Given the description of an element on the screen output the (x, y) to click on. 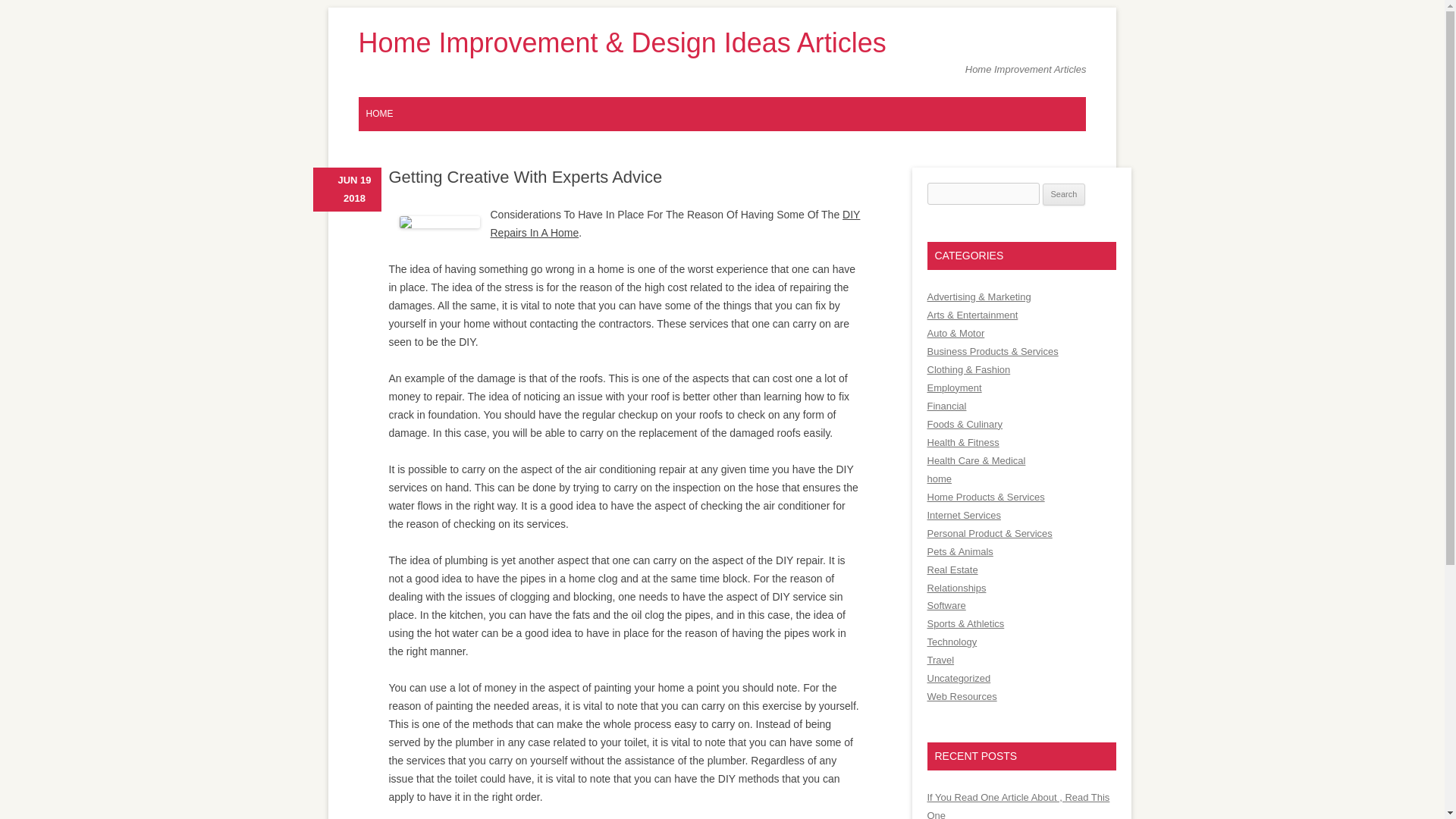
Financial (946, 405)
Software (945, 604)
Real Estate (951, 569)
Uncategorized (958, 677)
home (938, 478)
Employment (953, 387)
Search (1064, 194)
DIY Repairs In A Home (674, 223)
Web Resources (960, 696)
